Given the description of an element on the screen output the (x, y) to click on. 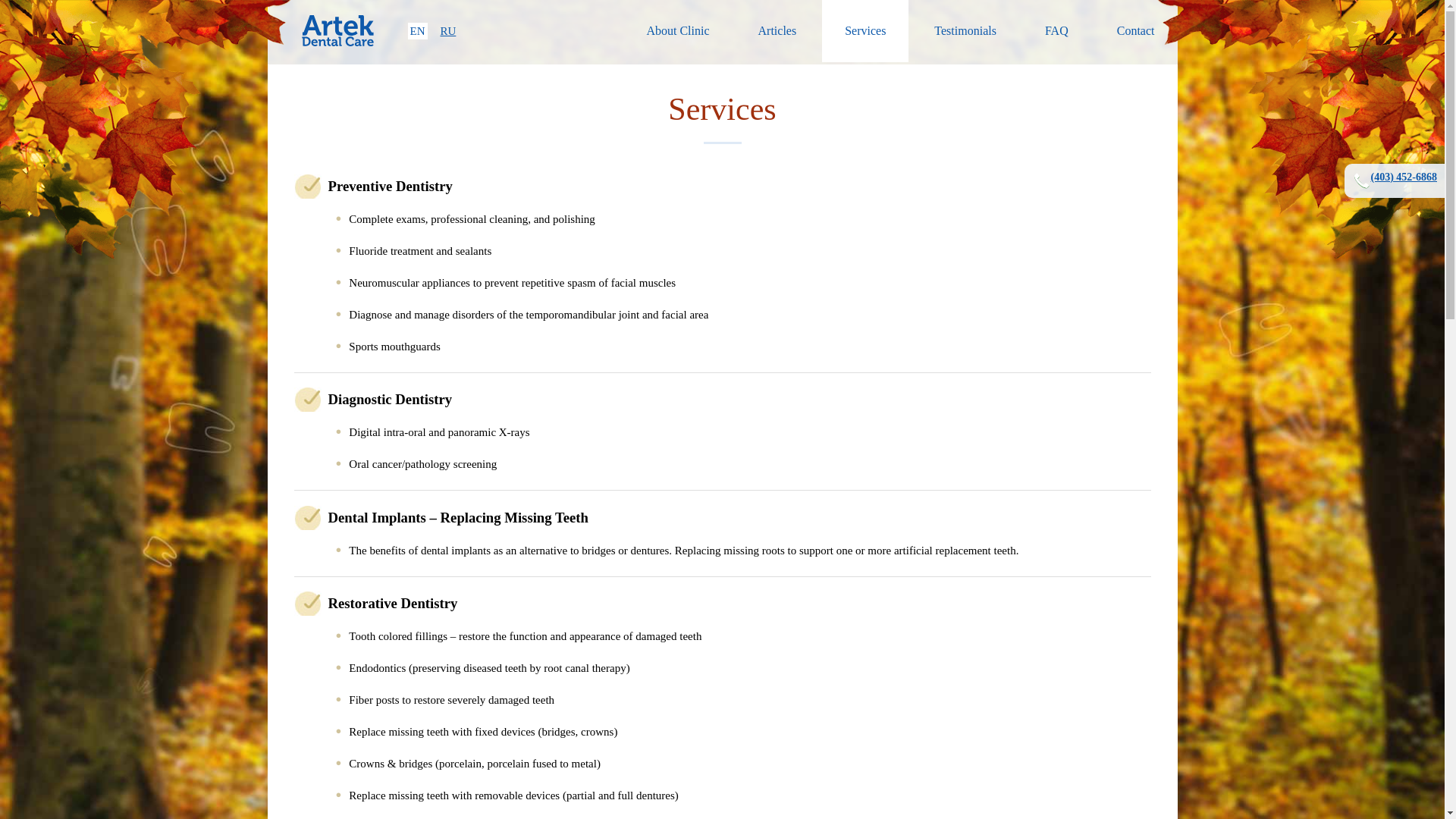
Contact Element type: text (1135, 31)
(403) 452-6868 Element type: text (1393, 180)
Testimonials Element type: text (965, 31)
Services Element type: text (865, 31)
RU Element type: text (448, 30)
About Clinic Element type: text (677, 31)
Articles Element type: text (777, 31)
EN Element type: text (417, 30)
FAQ Element type: text (1056, 31)
